Given the description of an element on the screen output the (x, y) to click on. 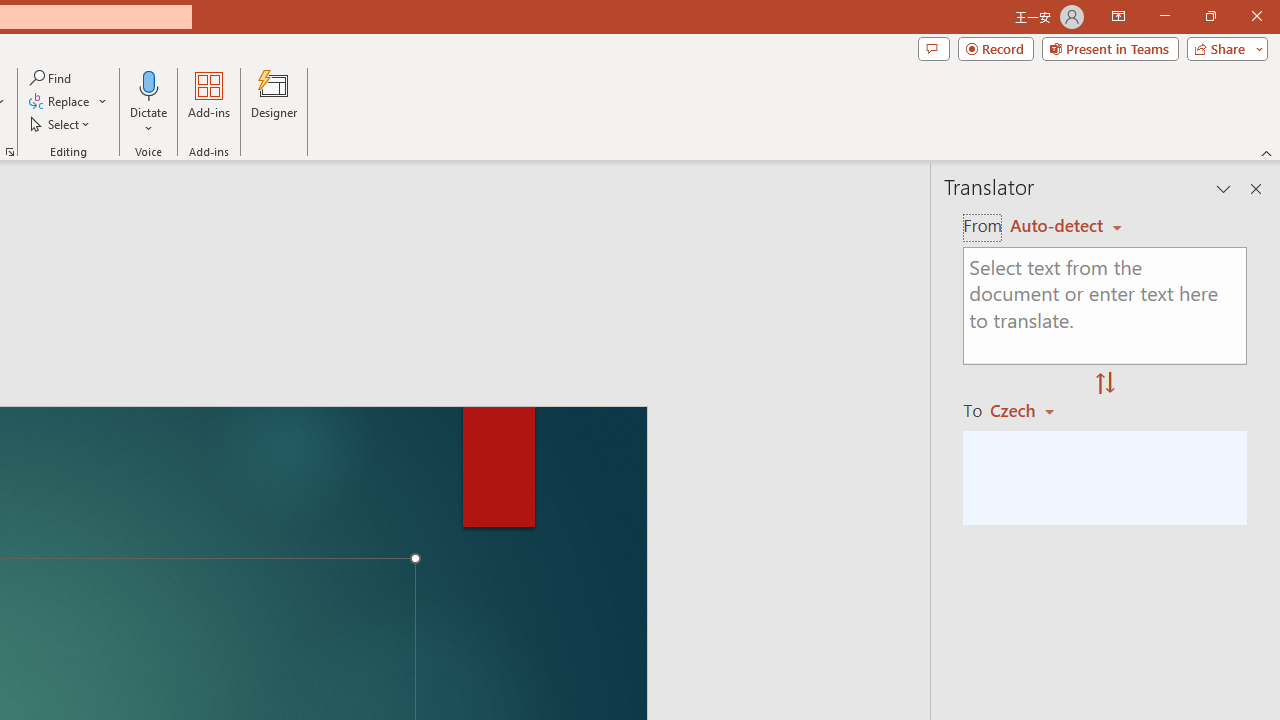
Czech (1030, 409)
